Given the description of an element on the screen output the (x, y) to click on. 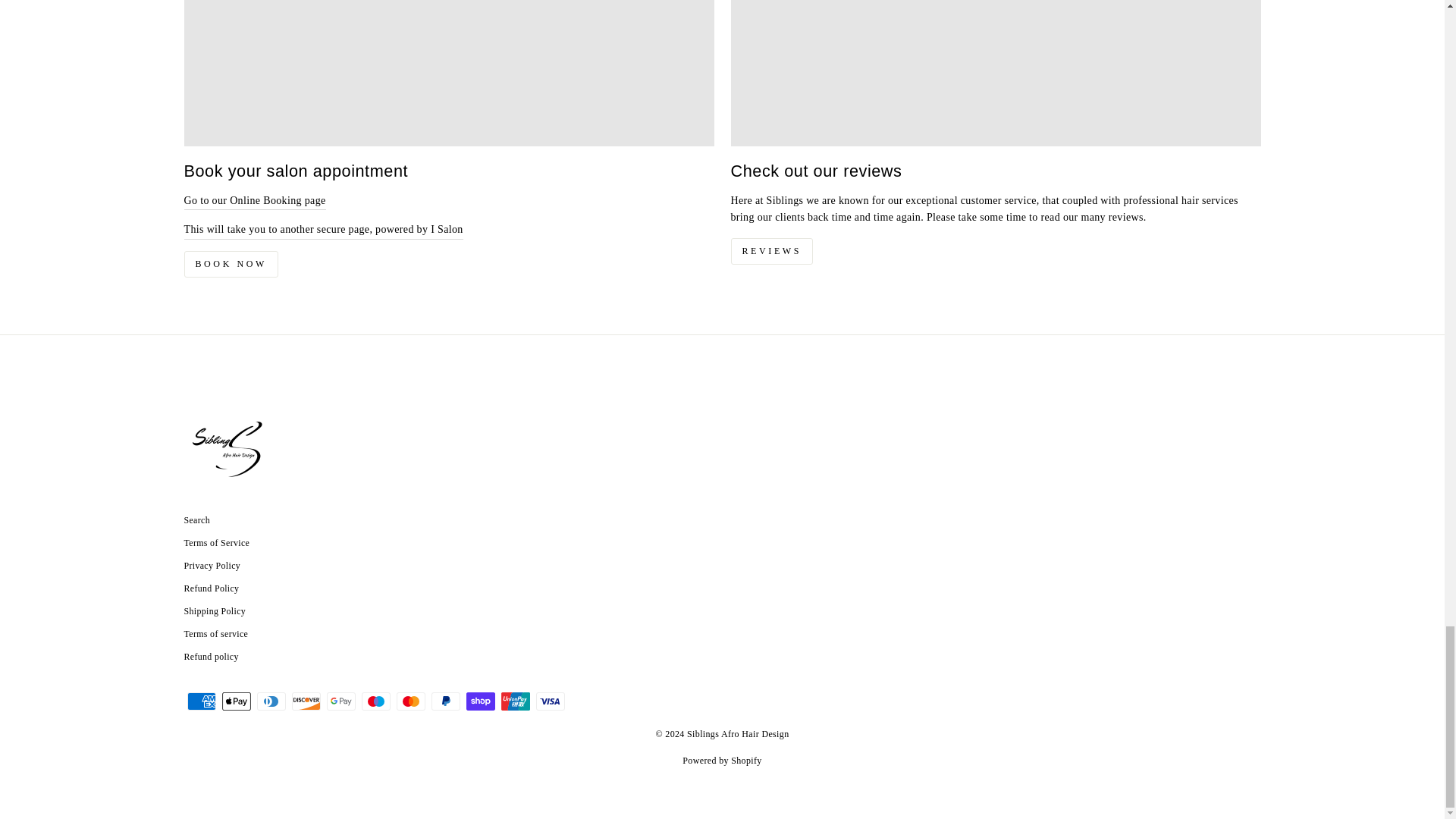
Shop Pay (480, 701)
Discover (305, 701)
Mastercard (410, 701)
Google Pay (340, 701)
American Express (200, 701)
PayPal (445, 701)
Visa (549, 701)
Book Online (323, 230)
Diners Club (270, 701)
Union Pay (514, 701)
